Given the description of an element on the screen output the (x, y) to click on. 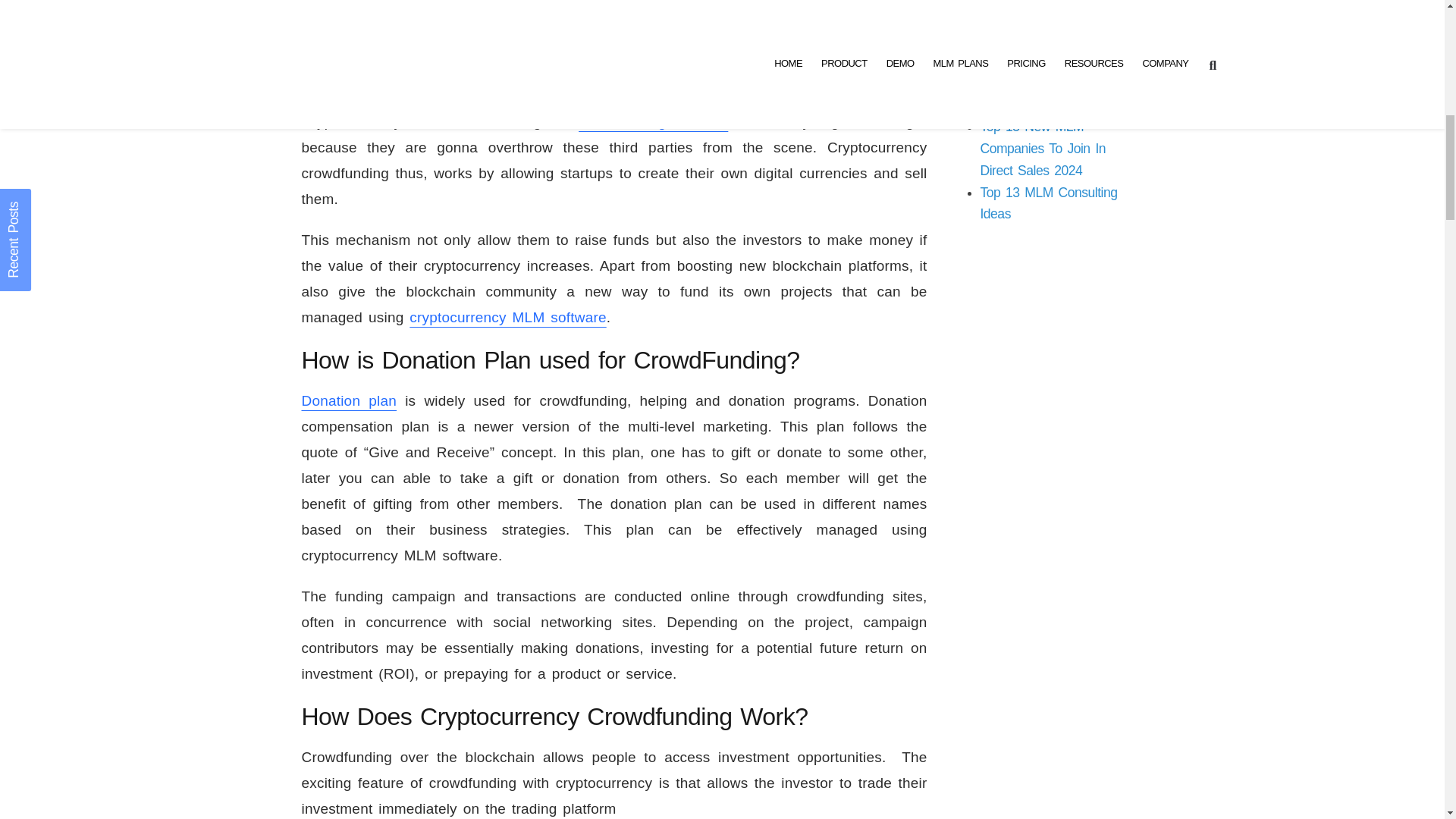
crowdfunding software (653, 121)
cryptocurrency MLM software (507, 317)
Donation plan (349, 400)
